Given the description of an element on the screen output the (x, y) to click on. 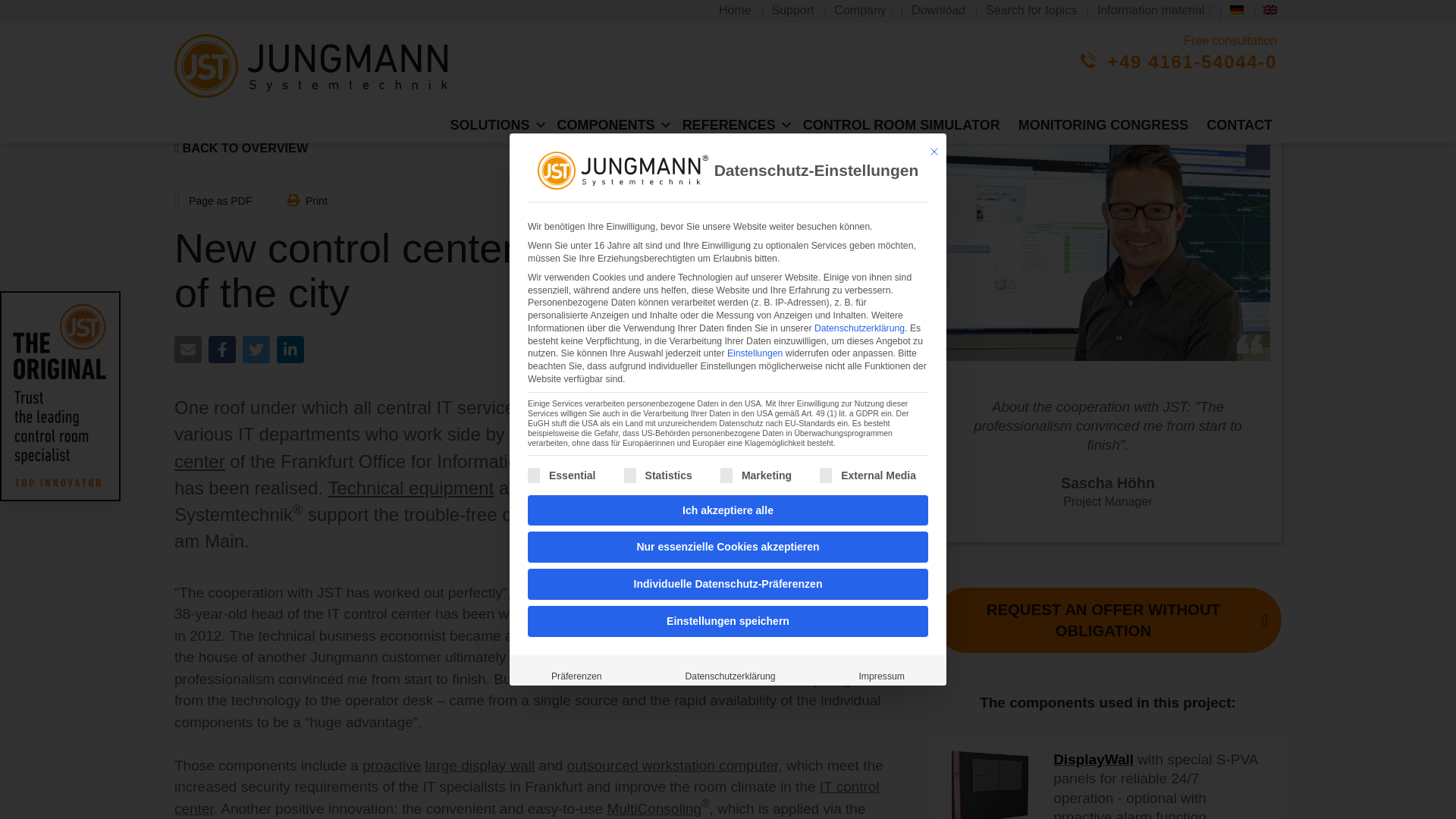
Drucken (306, 201)
